Given the description of an element on the screen output the (x, y) to click on. 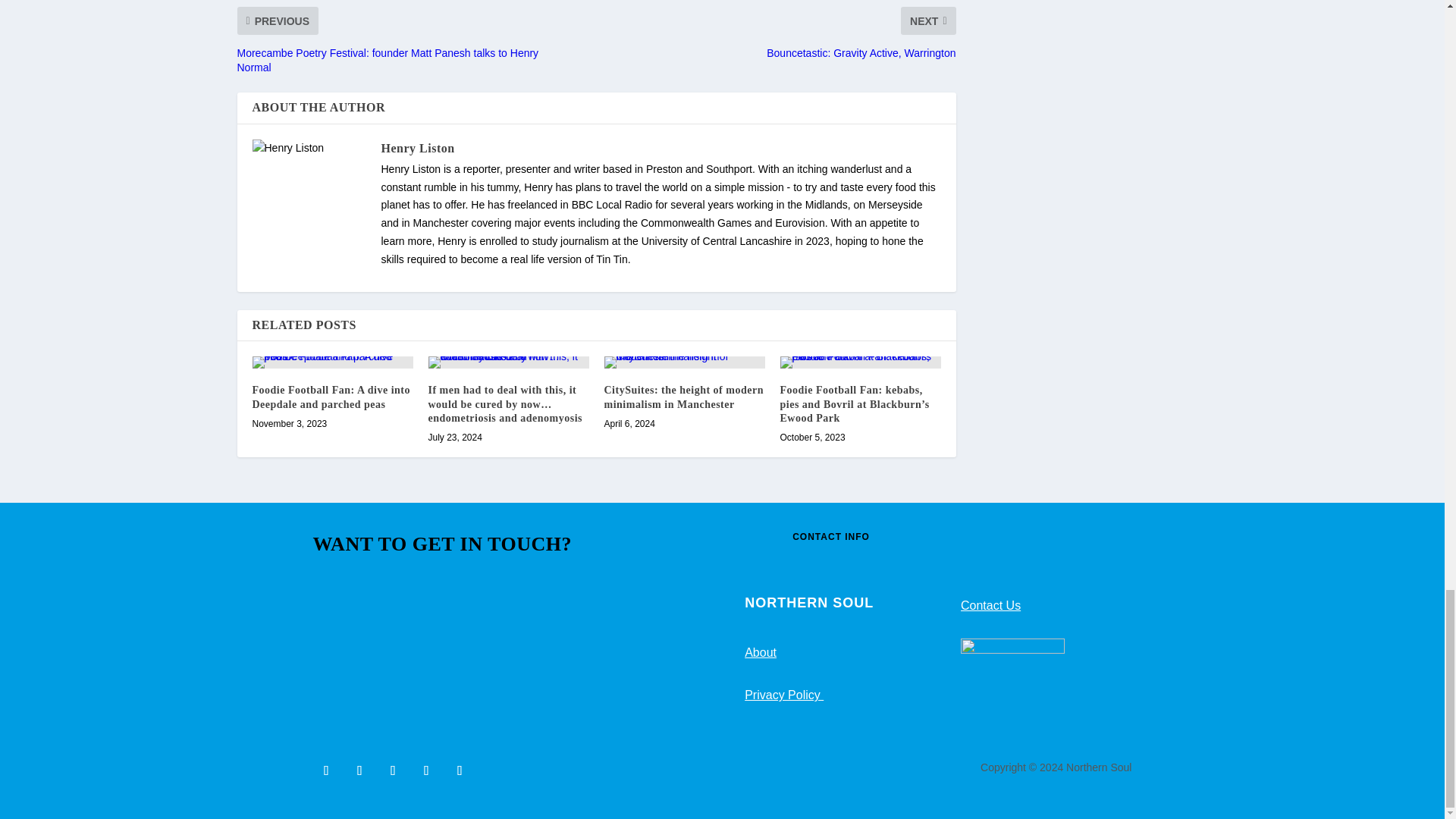
Henry Liston (417, 146)
CitySuites: the height of modern minimalism in Manchester (684, 362)
Foodie Football Fan: A dive into Deepdale and parched peas (331, 362)
Electronic-NUJ-badge-blue (1012, 690)
View all posts by Henry Liston (417, 146)
